Given the description of an element on the screen output the (x, y) to click on. 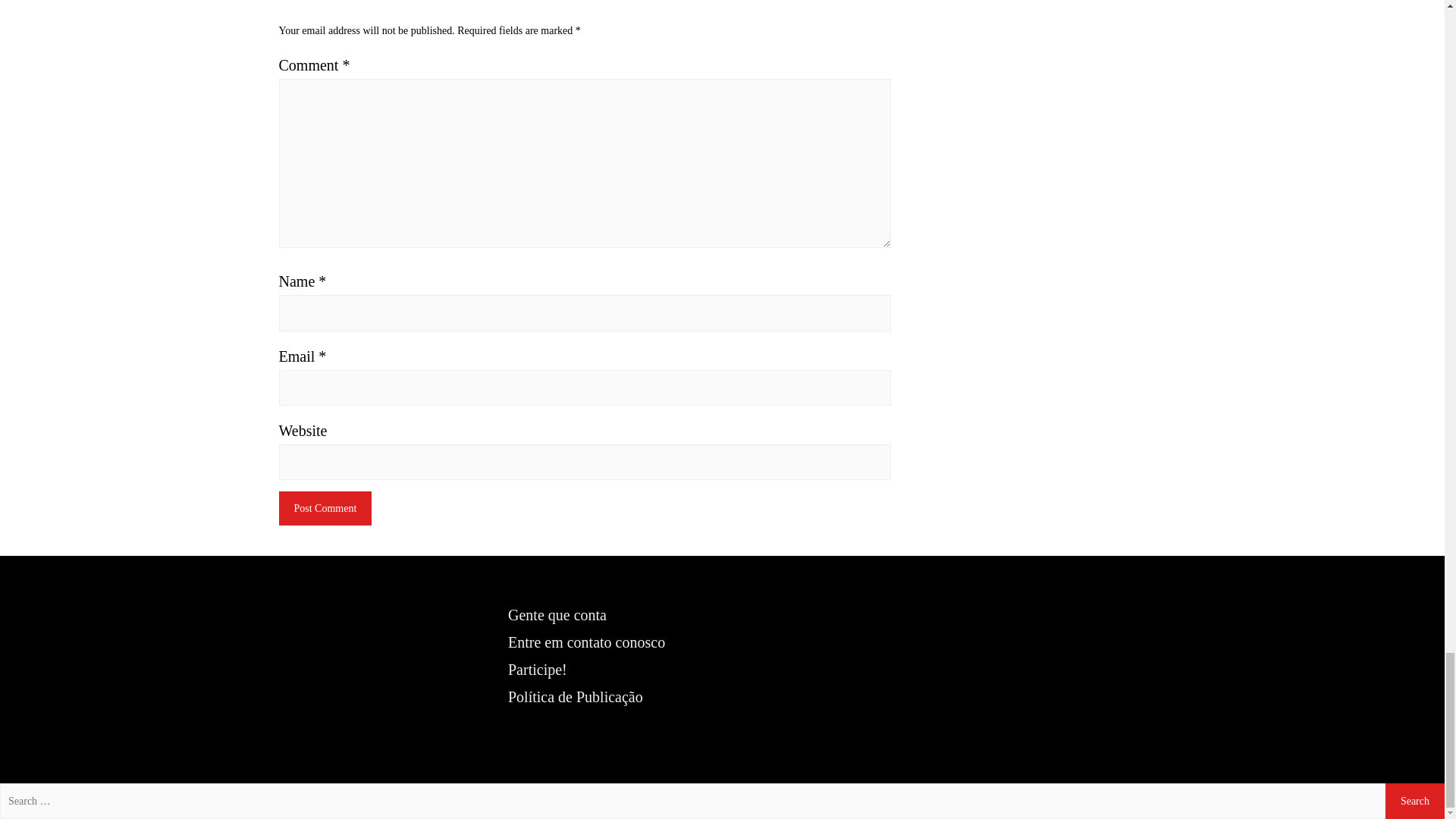
Gente que conta (557, 614)
Post Comment (325, 508)
Post Comment (325, 508)
